Given the description of an element on the screen output the (x, y) to click on. 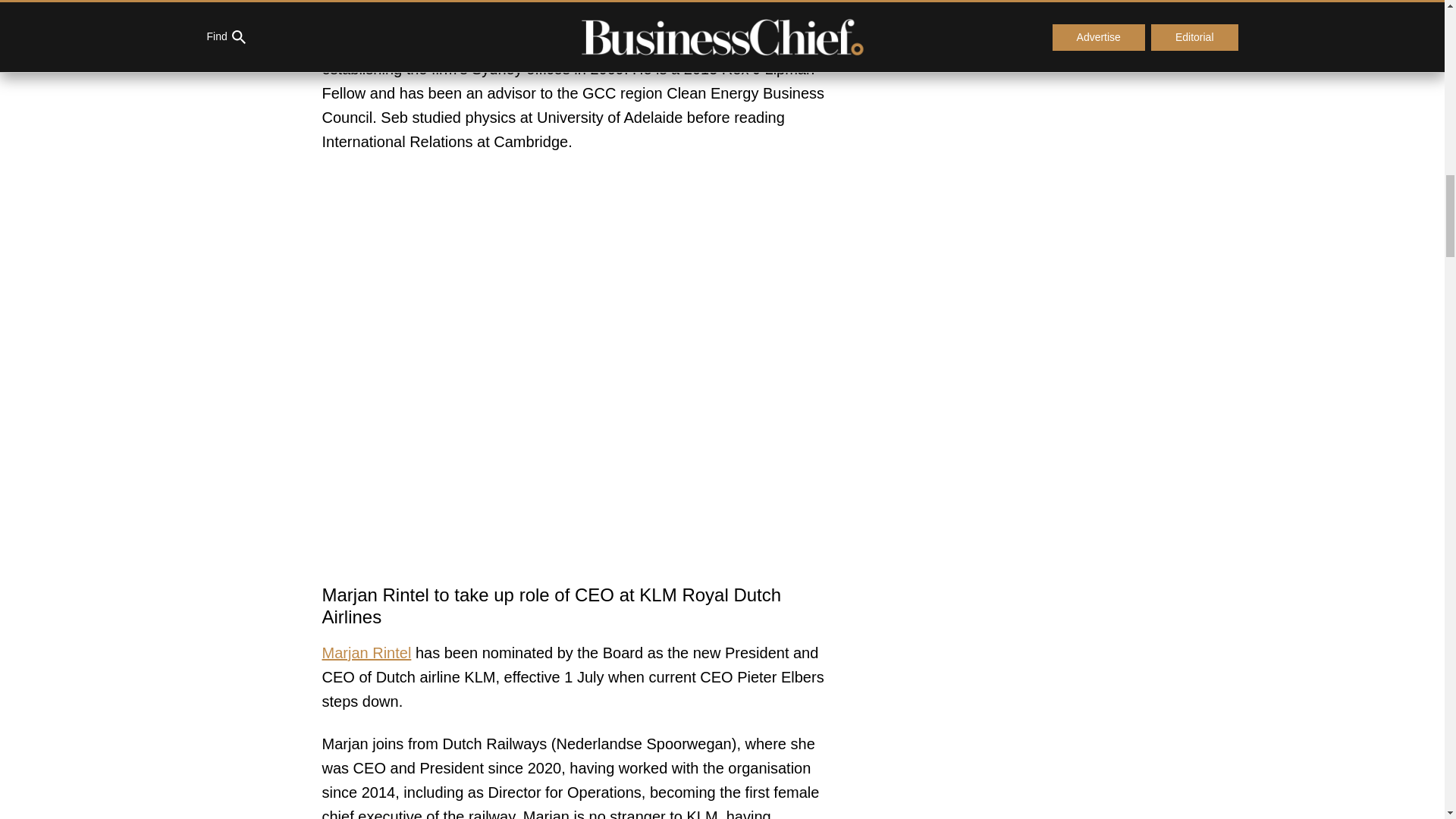
Marjan Rintel (365, 652)
